Given the description of an element on the screen output the (x, y) to click on. 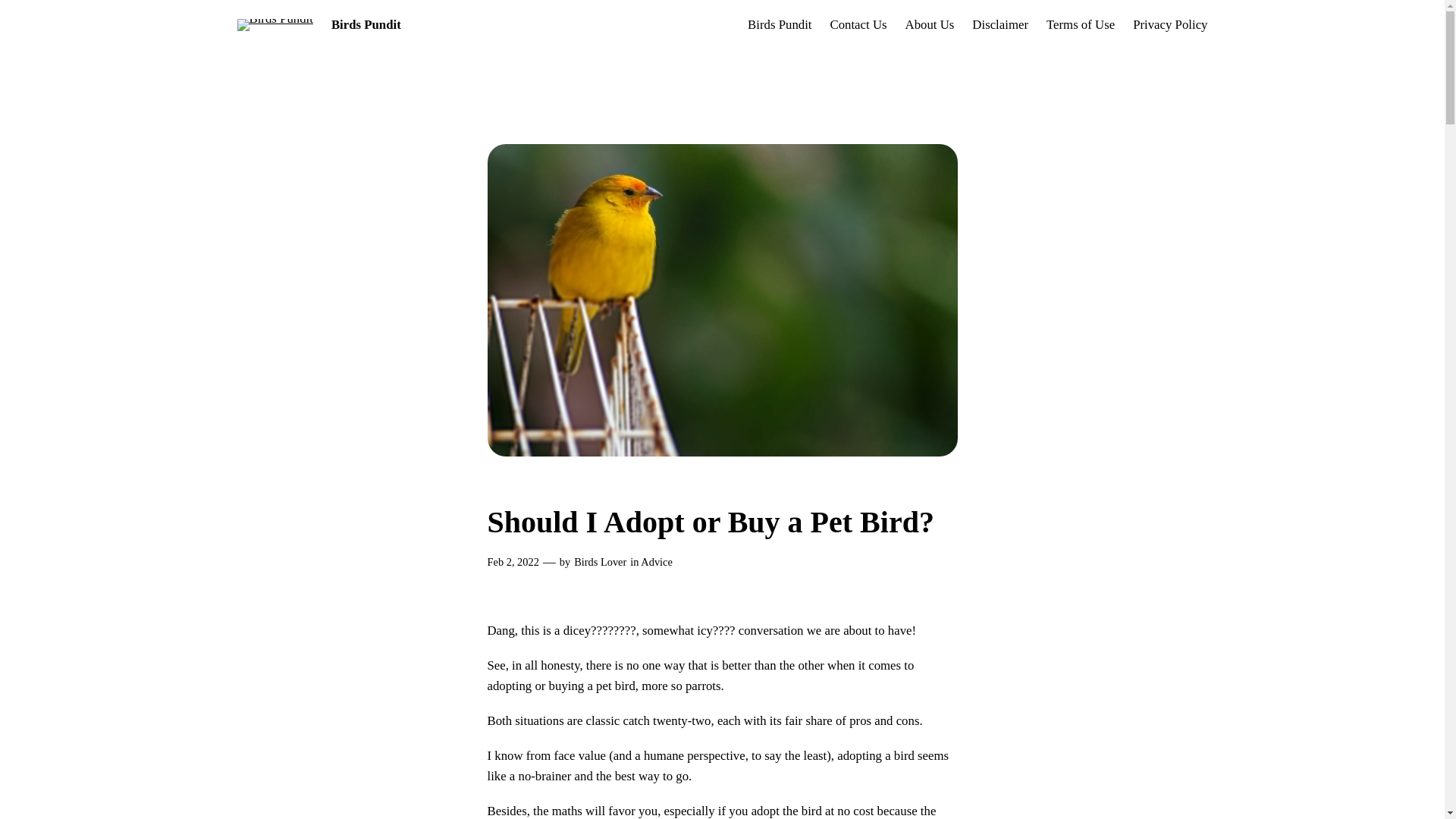
Terms of Use (1080, 25)
Birds Pundit (779, 25)
Contact Us (857, 25)
Privacy Policy (1169, 25)
Disclaimer (999, 25)
Birds Pundit (366, 24)
About Us (930, 25)
Birds Lover (599, 562)
Advice (656, 562)
Feb 2, 2022 (512, 562)
